Given the description of an element on the screen output the (x, y) to click on. 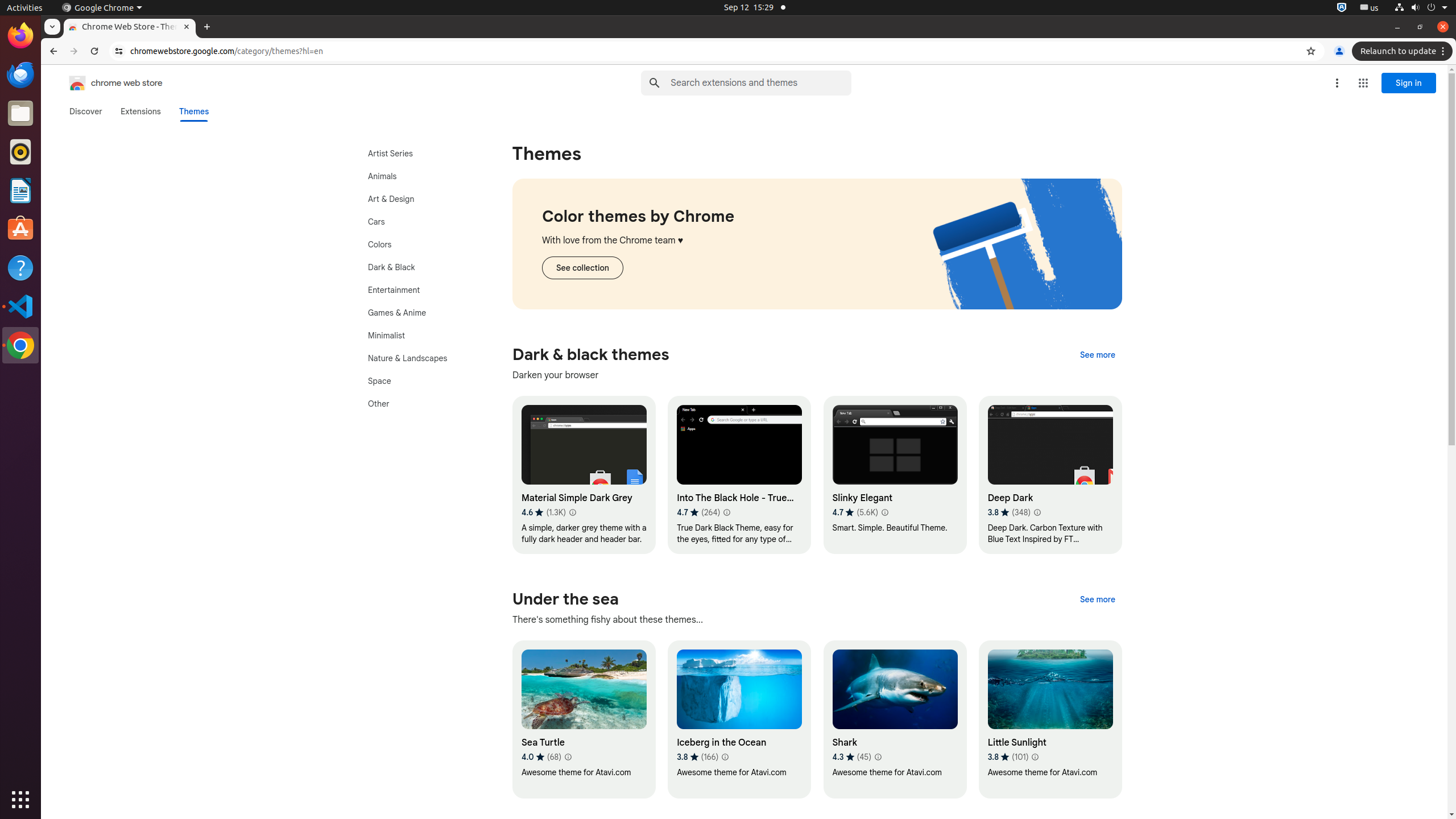
Extensions Element type: page-tab (140, 111)
Nature & Landscapes Element type: menu-item (419, 357)
Artist Series Element type: menu-item (419, 153)
Show Applications Element type: toggle-button (20, 799)
Iceberg in the Ocean Element type: link (739, 719)
